Given the description of an element on the screen output the (x, y) to click on. 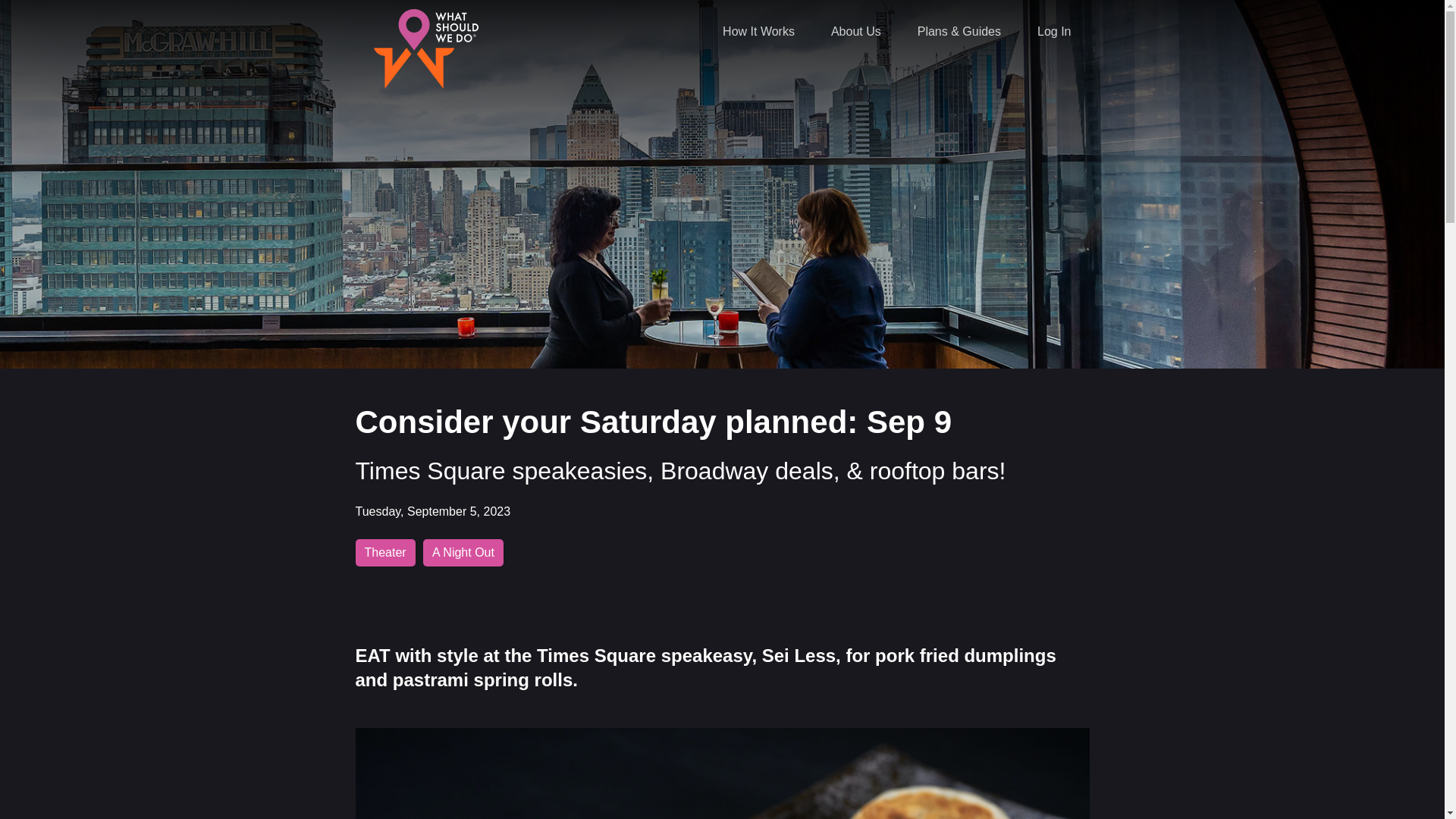
How It Works (758, 31)
Theater (384, 552)
About Us (855, 31)
Log In (1054, 31)
A Night Out (463, 552)
